Given the description of an element on the screen output the (x, y) to click on. 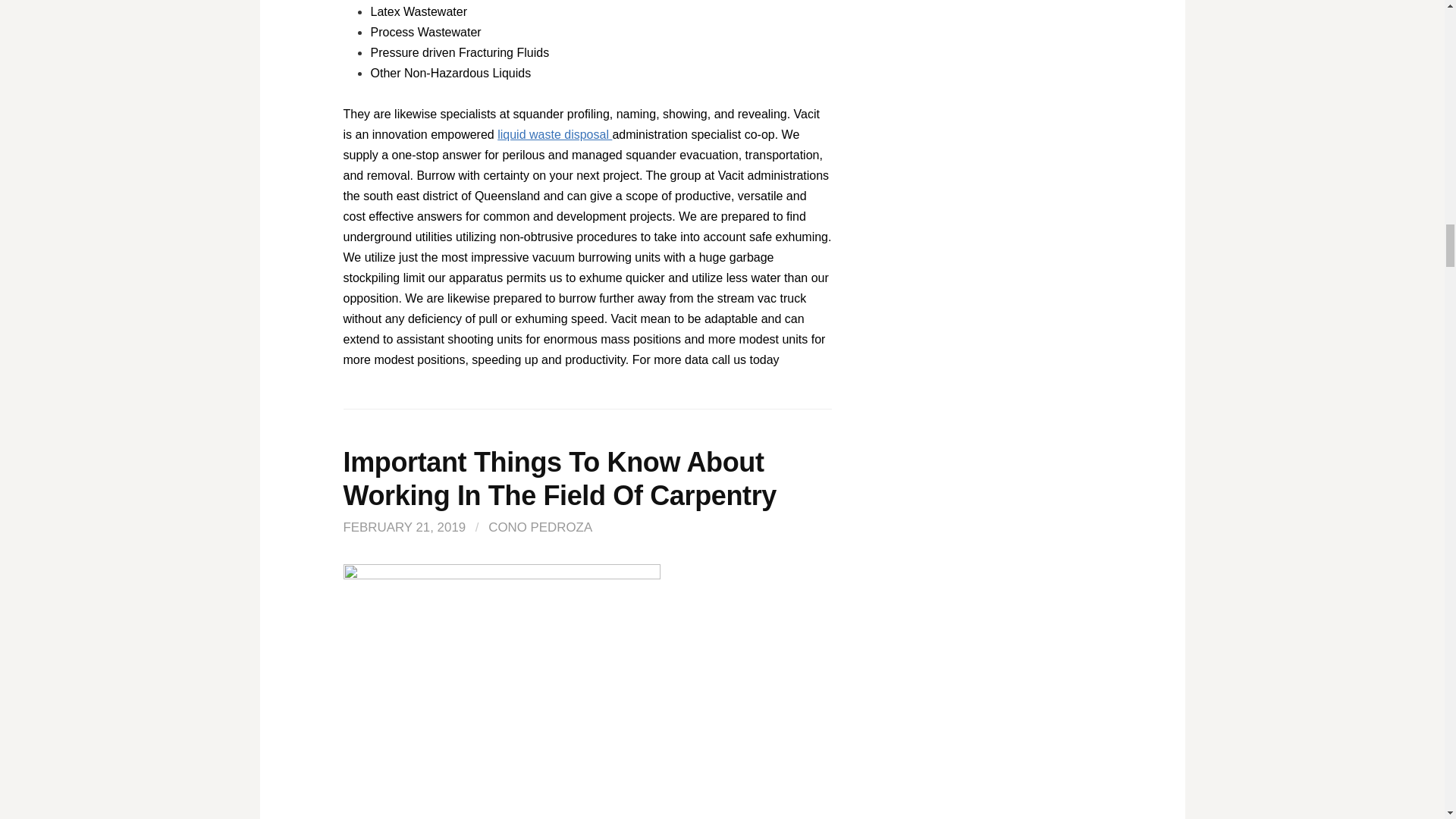
CONO PEDROZA (539, 527)
FEBRUARY 21, 2019 (403, 527)
liquid waste disposal (554, 133)
liquid waste disposal (554, 133)
